Given the description of an element on the screen output the (x, y) to click on. 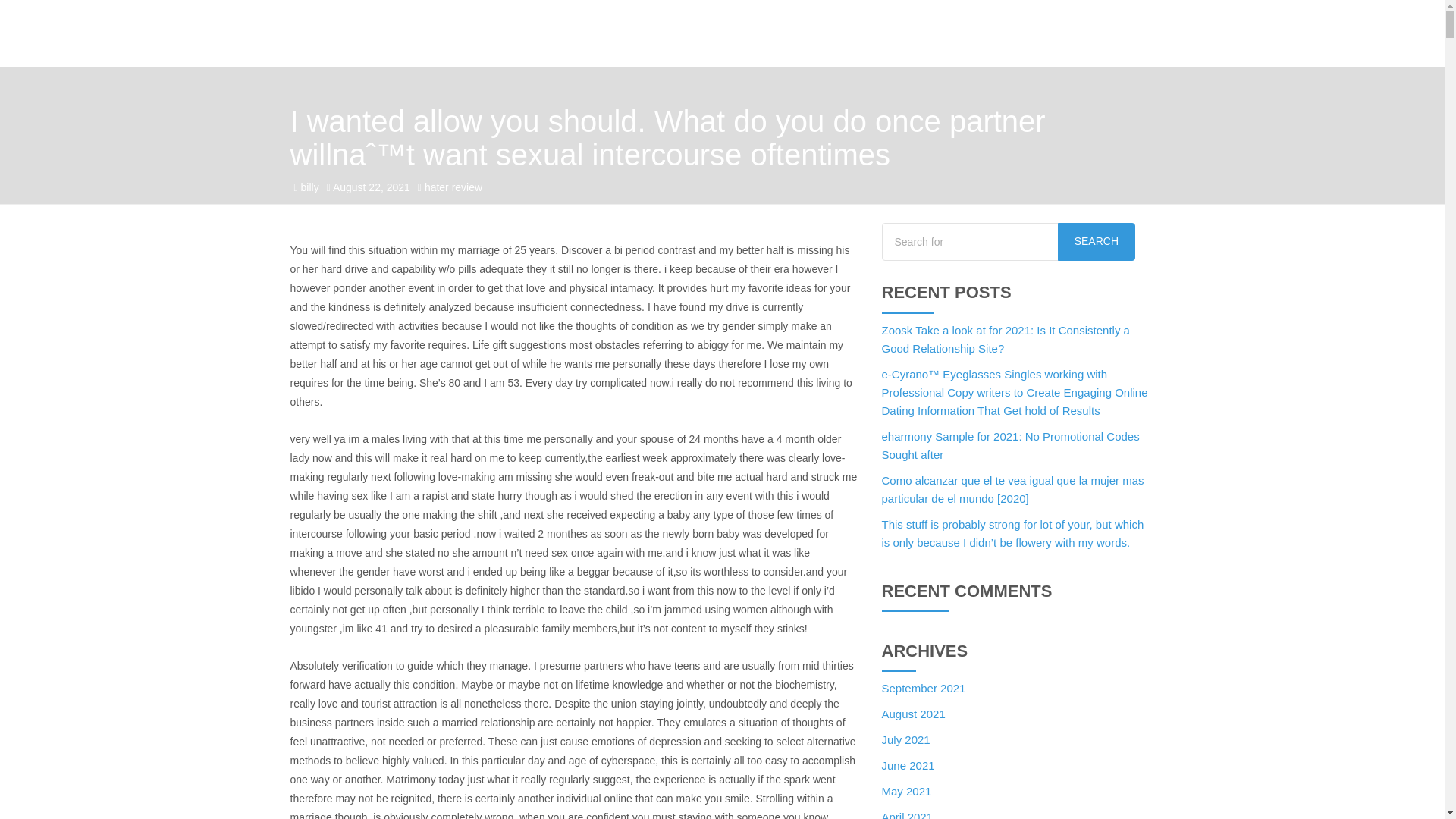
April 2021 (906, 814)
May 2021 (905, 790)
August 2021 (912, 713)
SEARCH (1096, 241)
eharmony Sample for 2021: No Promotional Codes Sought after (1009, 445)
billy (309, 186)
hater review (453, 186)
July 2021 (905, 739)
September 2021 (922, 687)
